Given the description of an element on the screen output the (x, y) to click on. 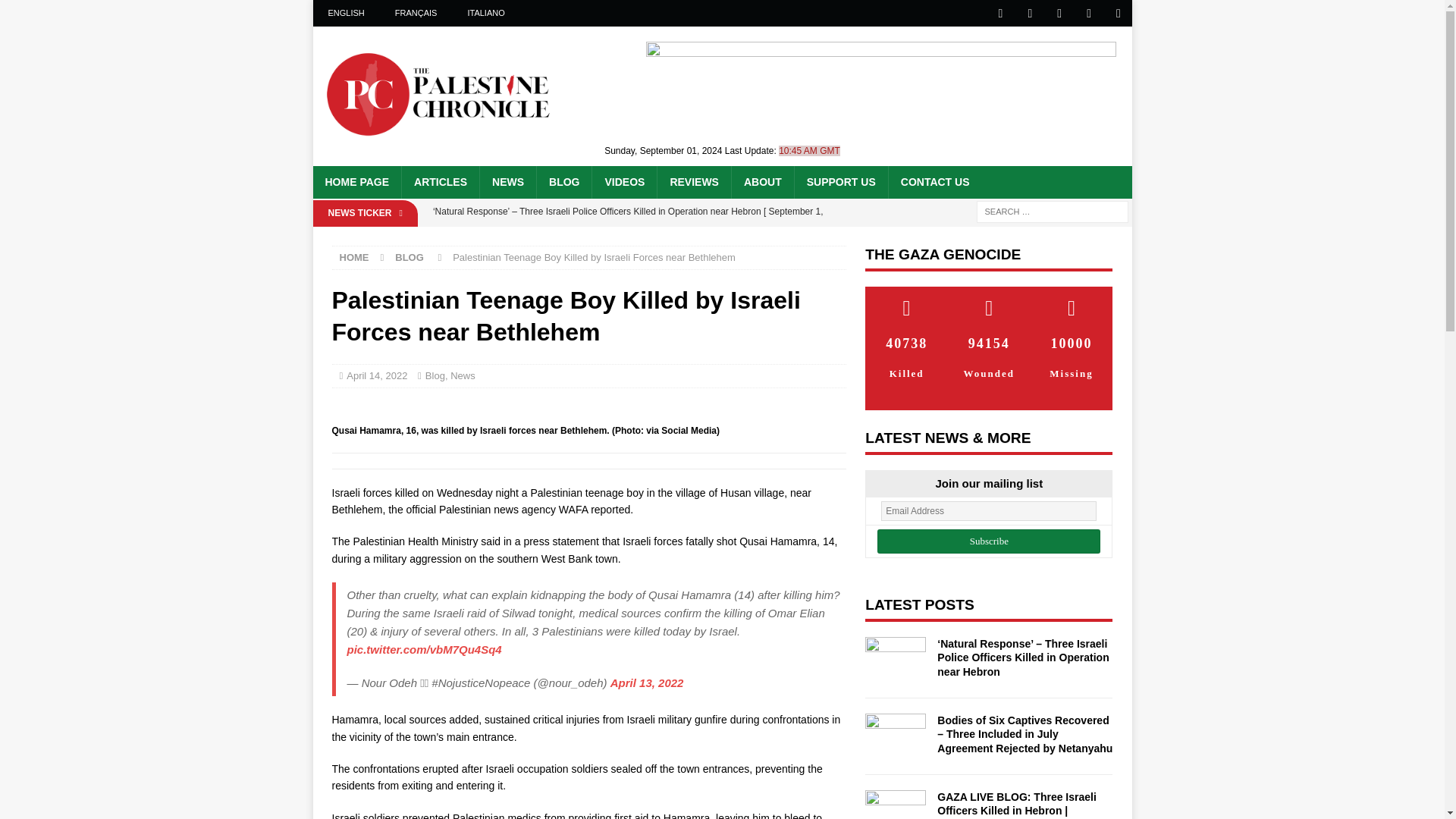
Search (56, 11)
HOME (354, 256)
REVIEWS (693, 182)
NEWS (507, 182)
Blog (435, 375)
SUPPORT US (840, 182)
HOME PAGE (357, 182)
ARTICLES (440, 182)
News (462, 375)
ABOUT (761, 182)
